Given the description of an element on the screen output the (x, y) to click on. 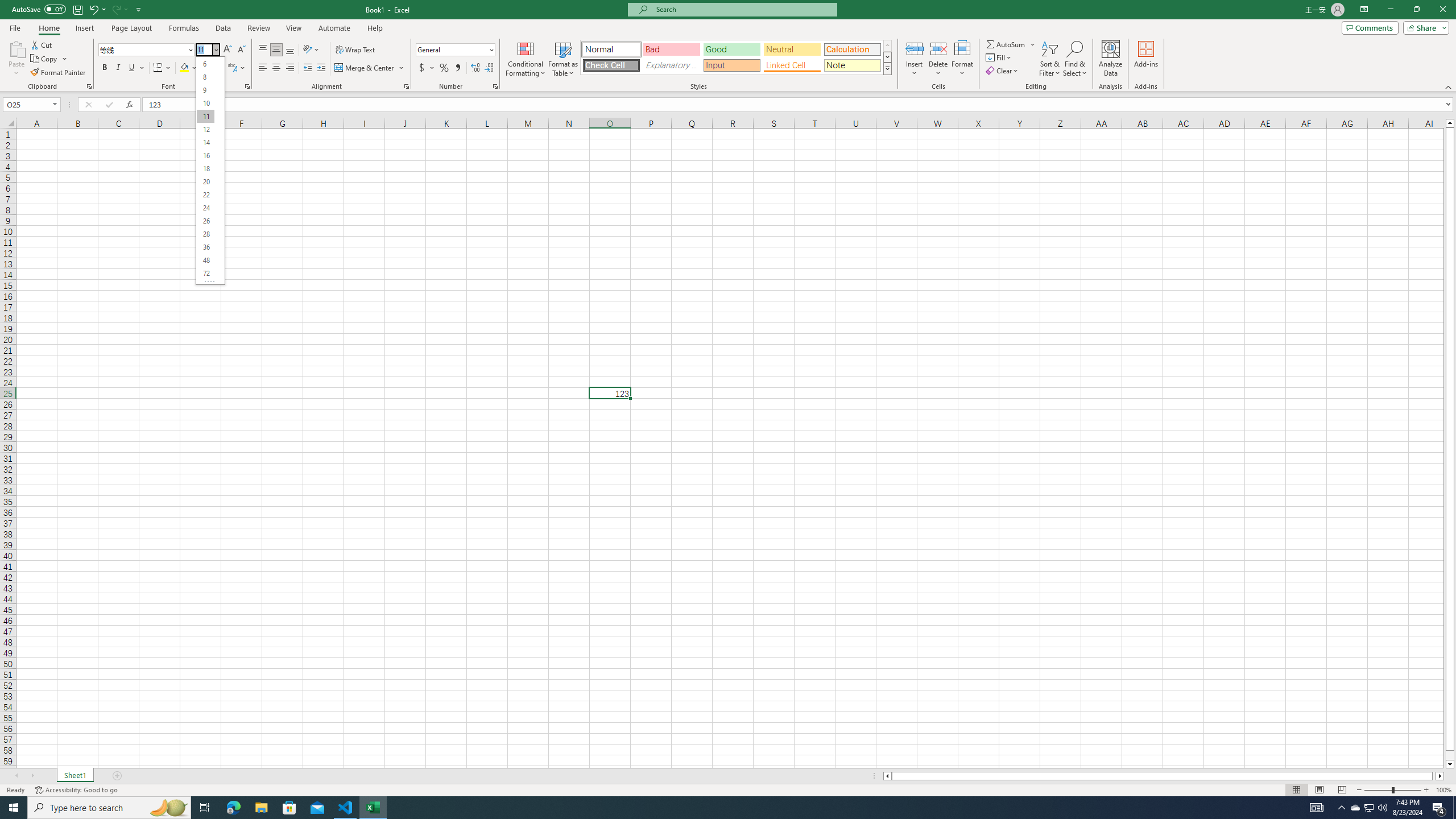
Comma Style (457, 67)
Cut (42, 44)
12 (205, 128)
Bold (104, 67)
Center (276, 67)
Paste (16, 58)
Office Clipboard... (88, 85)
10 (205, 102)
